Given the description of an element on the screen output the (x, y) to click on. 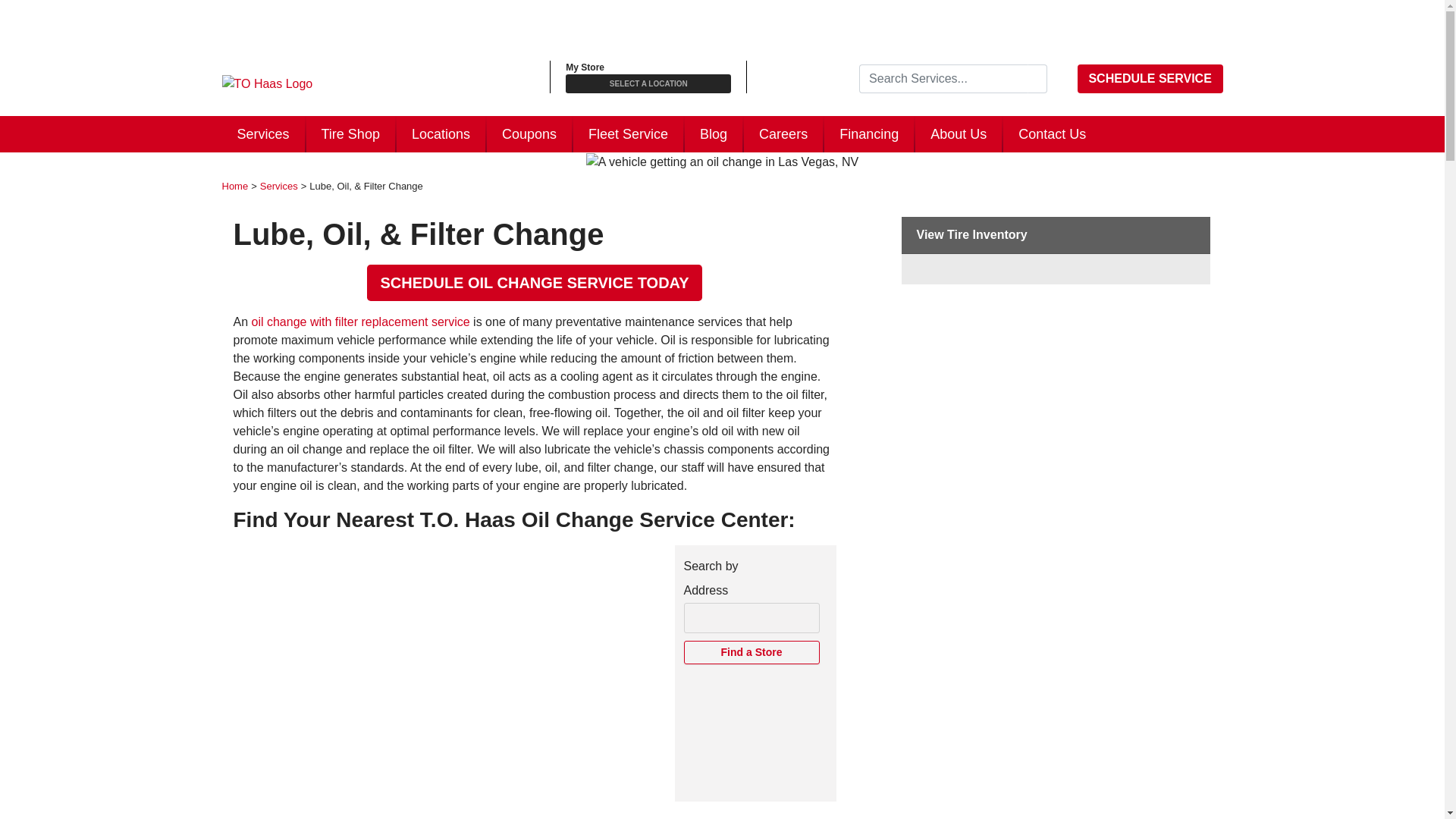
Find a Store (751, 652)
SCHEDULE SERVICE (1150, 78)
Careers (783, 134)
Financing (869, 134)
About Us (958, 134)
Go to Services. (279, 185)
Locations (440, 134)
Fleet Service (627, 134)
Go to TO Haas Tire. (234, 185)
Coupons (529, 134)
Tire Shop (349, 134)
Services (262, 134)
SELECT A LOCATION (648, 83)
Blog (713, 134)
